Given the description of an element on the screen output the (x, y) to click on. 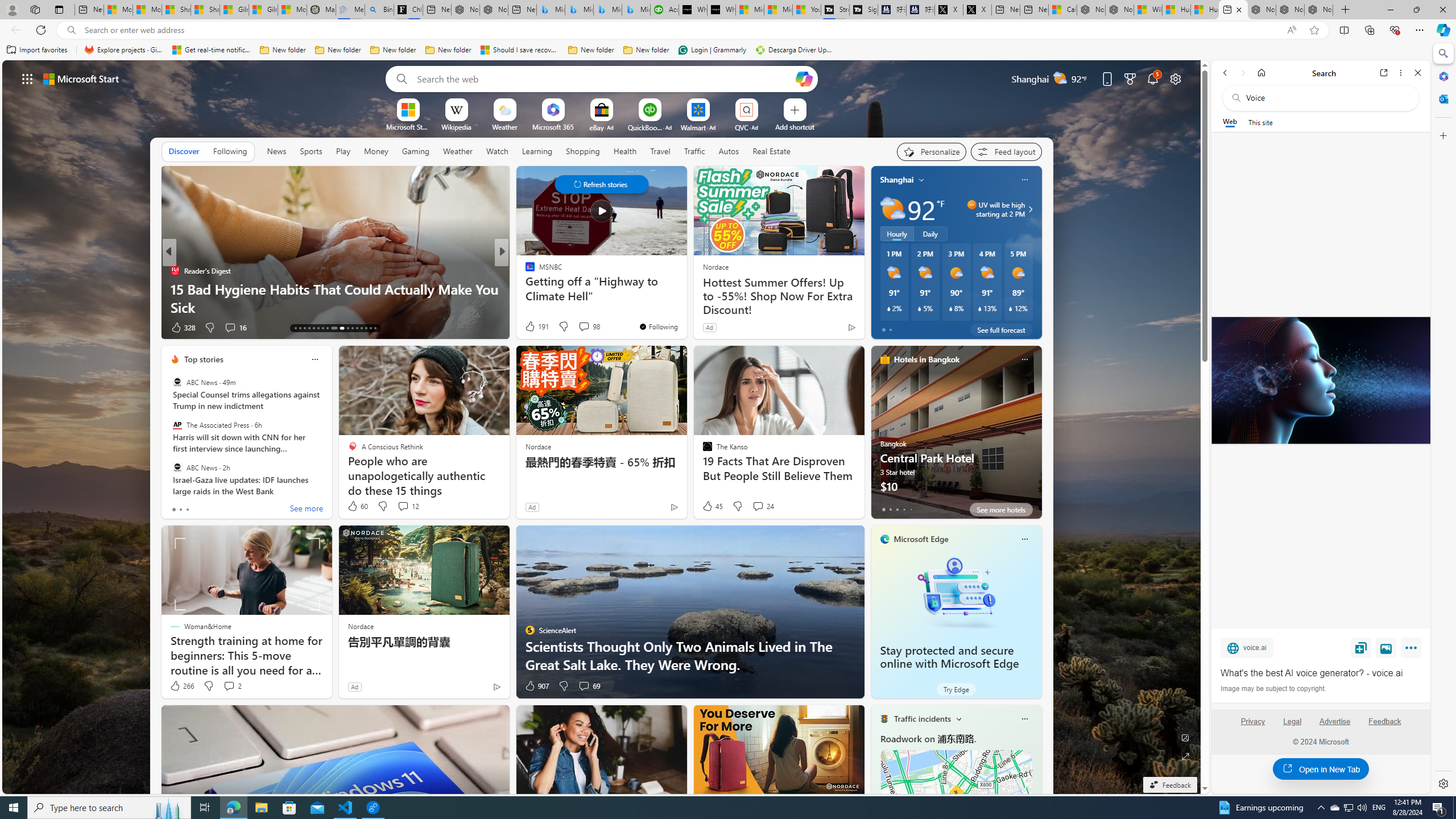
27 Like (530, 327)
Weather (457, 151)
Outlook (1442, 98)
AutomationID: tab-21 (331, 328)
Page settings (1175, 78)
tab-1 (889, 509)
View comments 98 Comment (588, 326)
Learning (536, 151)
Watch (497, 151)
Top stories (203, 359)
What's the best AI voice generator? - voice.ai (721, 9)
